Given the description of an element on the screen output the (x, y) to click on. 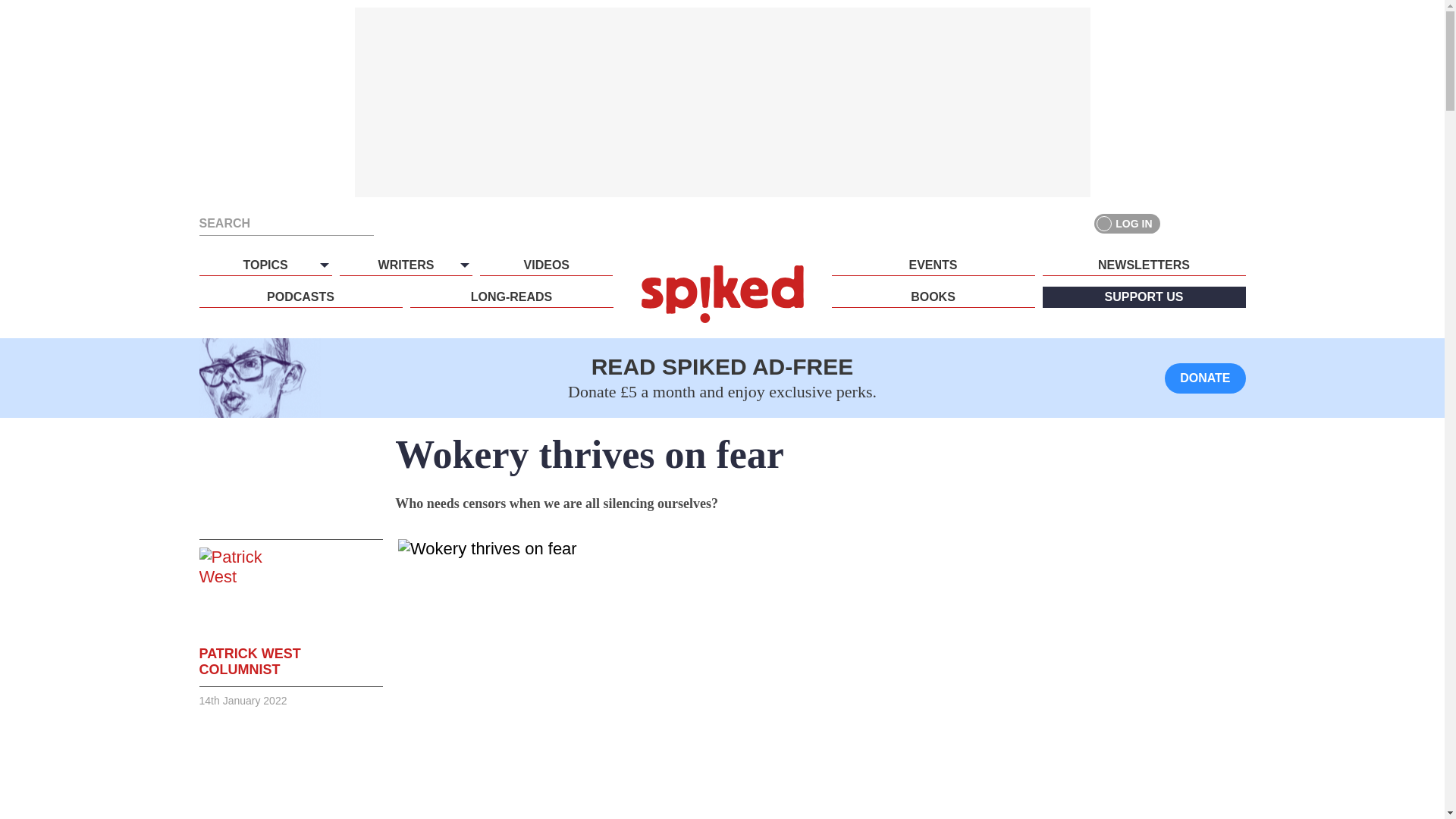
spiked - humanity is underrated (722, 293)
LONG-READS (510, 296)
BOOKS (932, 296)
EVENTS (932, 265)
Twitter (1207, 223)
LOG IN (1126, 223)
YouTube (1234, 223)
WRITERS (405, 265)
PODCASTS (299, 296)
TOPICS (264, 265)
NEWSLETTERS (1143, 265)
Facebook (1180, 223)
SUPPORT US (1143, 296)
VIDEOS (546, 265)
